Given the description of an element on the screen output the (x, y) to click on. 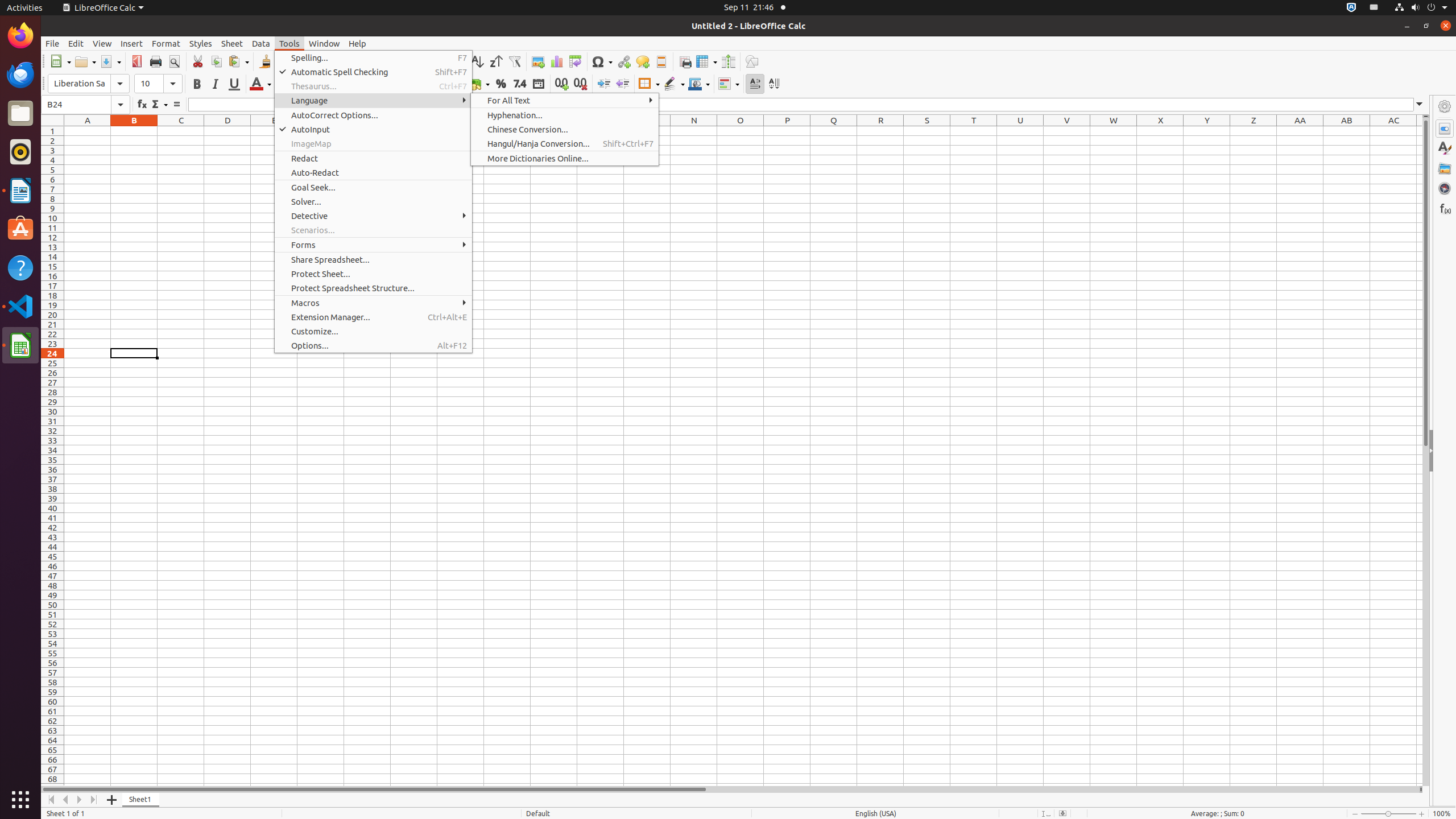
E1 Element type: table-cell (273, 130)
N1 Element type: table-cell (693, 130)
Scenarios... Element type: menu-item (373, 229)
Window Element type: menu (324, 43)
Formula Element type: push-button (176, 104)
